Given the description of an element on the screen output the (x, y) to click on. 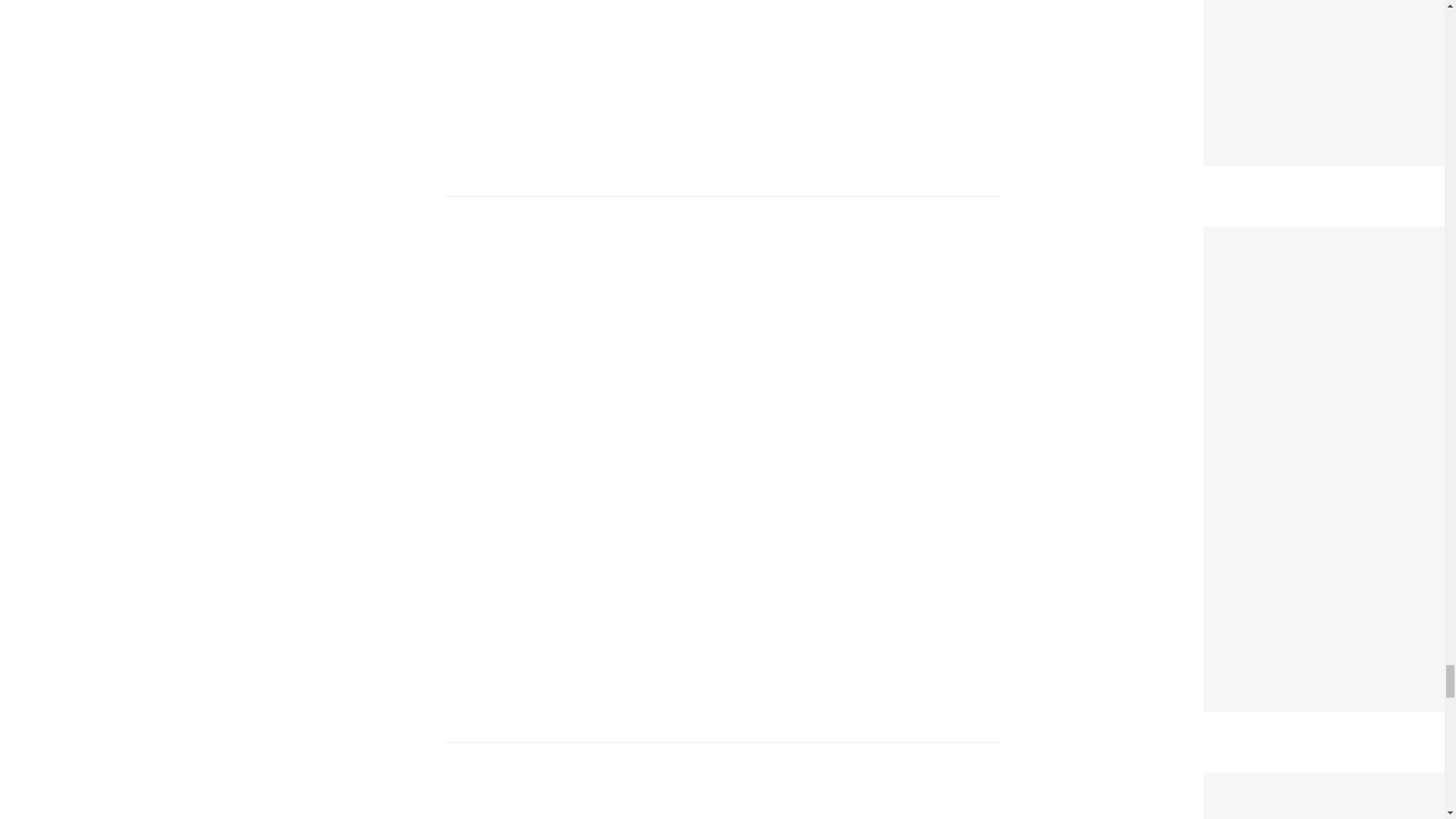
Outdoor Large Pots Near Me (1296, 782)
Designing A Cottage Garden From Scratch (1330, 236)
